Given the description of an element on the screen output the (x, y) to click on. 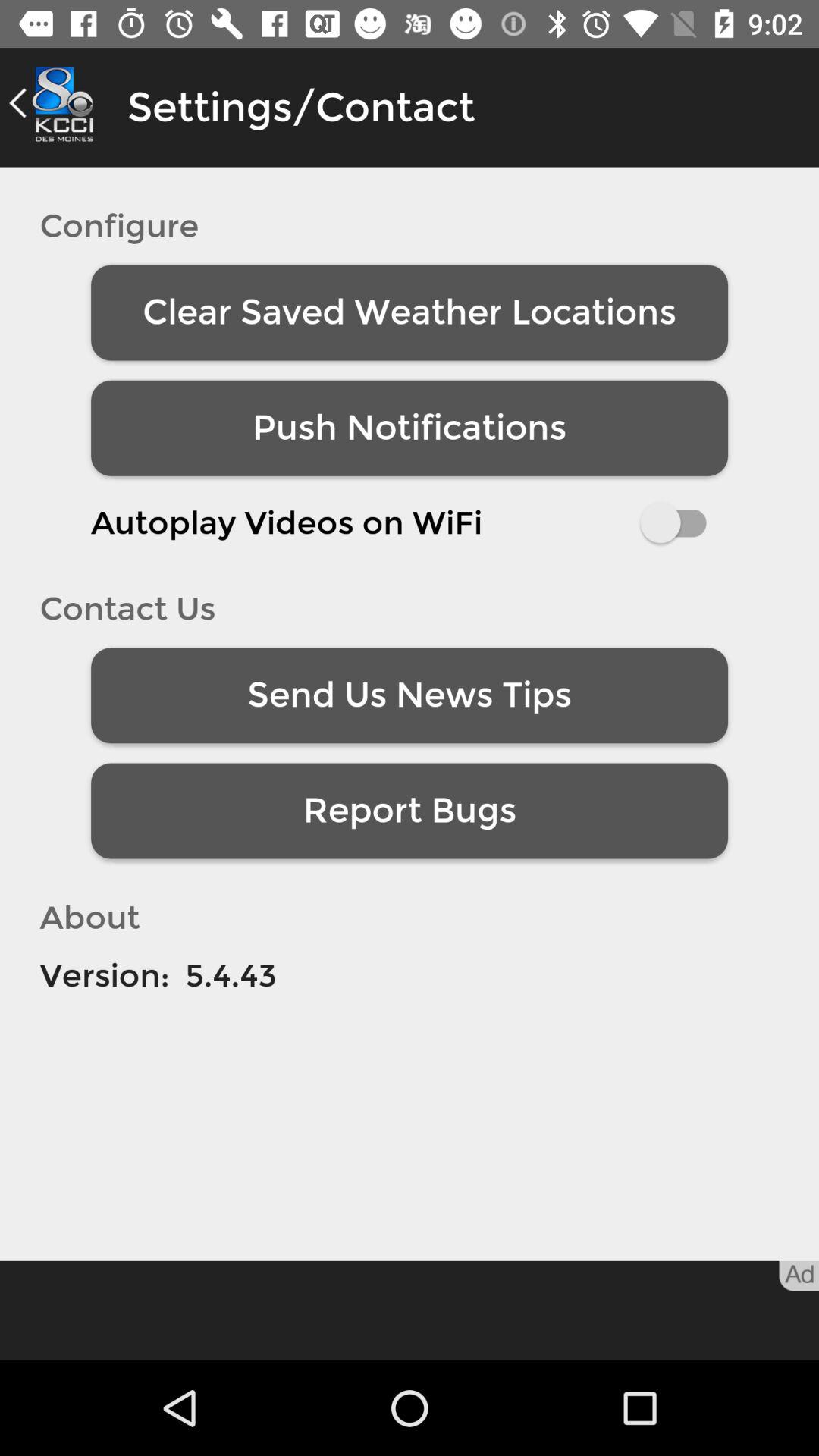
turn on the item below about icon (104, 975)
